Given the description of an element on the screen output the (x, y) to click on. 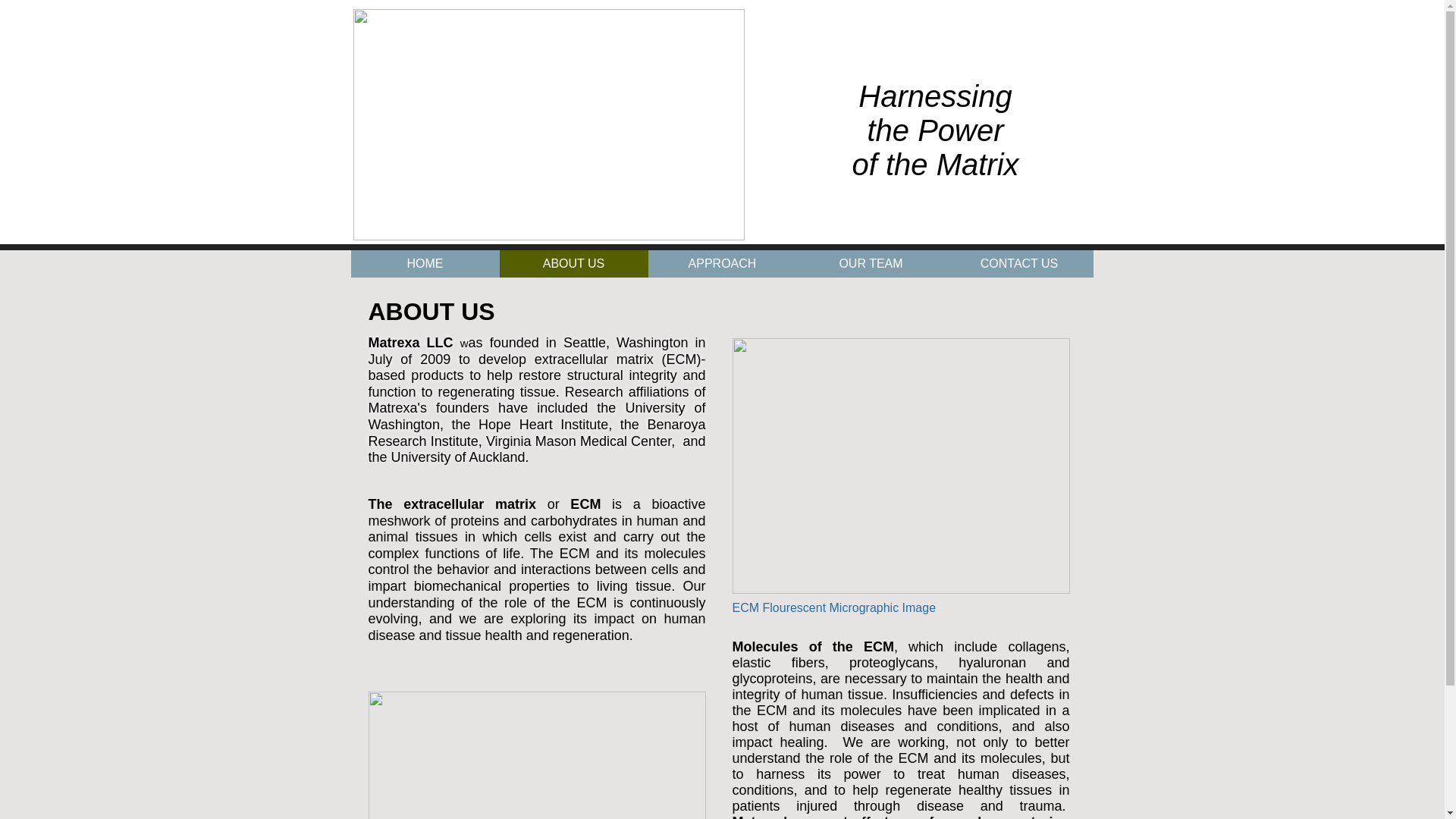
CONTACT US (1018, 263)
ABOUT US (573, 263)
OUR TEAM (870, 263)
APPROACH (721, 263)
HOME (424, 263)
matrix-biology-program-leading-image.jpg (901, 465)
